Given the description of an element on the screen output the (x, y) to click on. 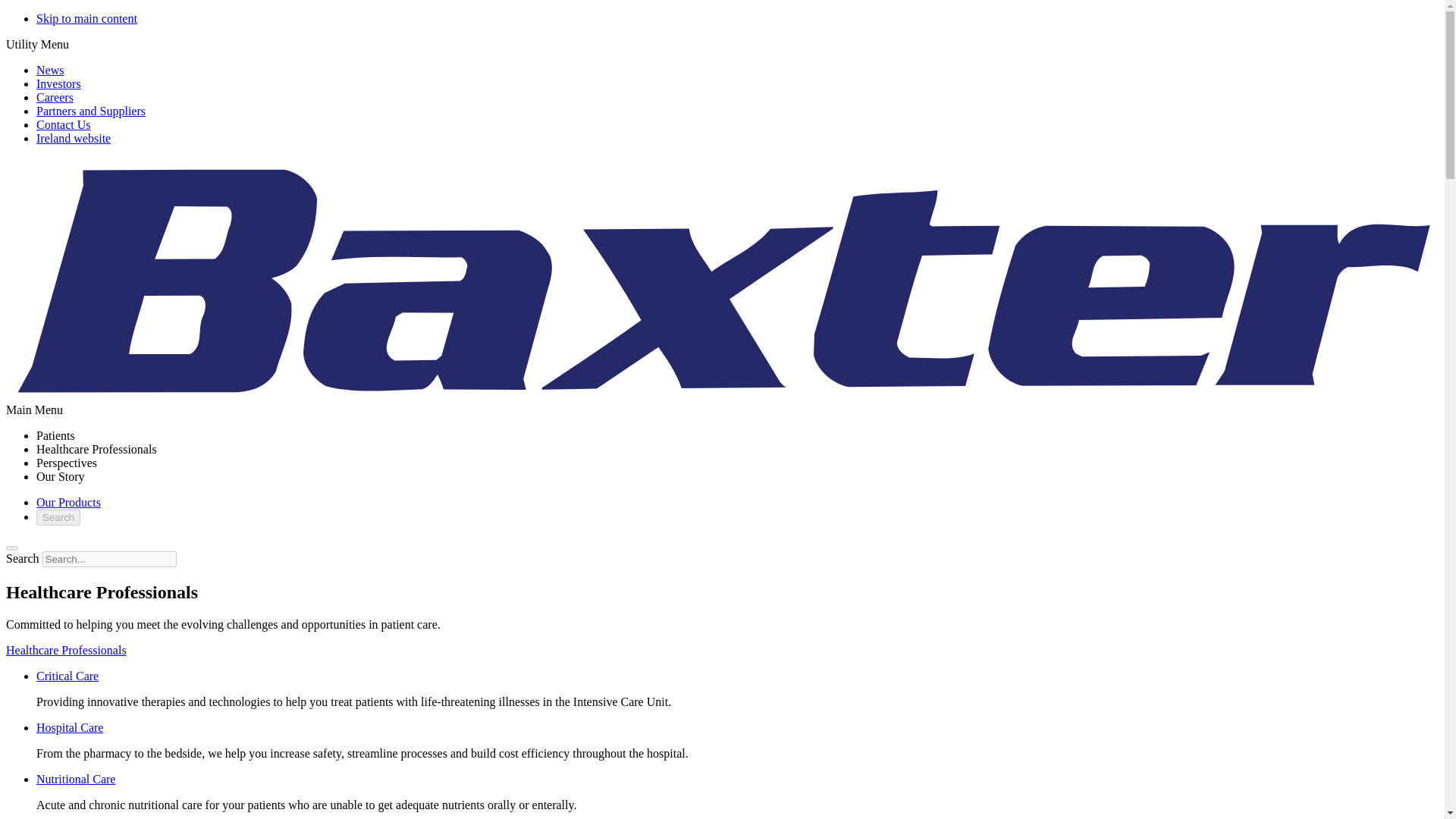
Nutritional Care (75, 779)
Patients (55, 435)
Skip to main content (86, 18)
Healthcare Professionals (65, 649)
Healthcare Professionals (96, 449)
Partners and Suppliers (90, 110)
Our Story (60, 476)
Hospital Care (69, 727)
Ireland website (73, 137)
Contact Us (63, 124)
Search (58, 517)
Investors (58, 83)
Our Products (68, 502)
Careers (55, 97)
News (50, 69)
